Given the description of an element on the screen output the (x, y) to click on. 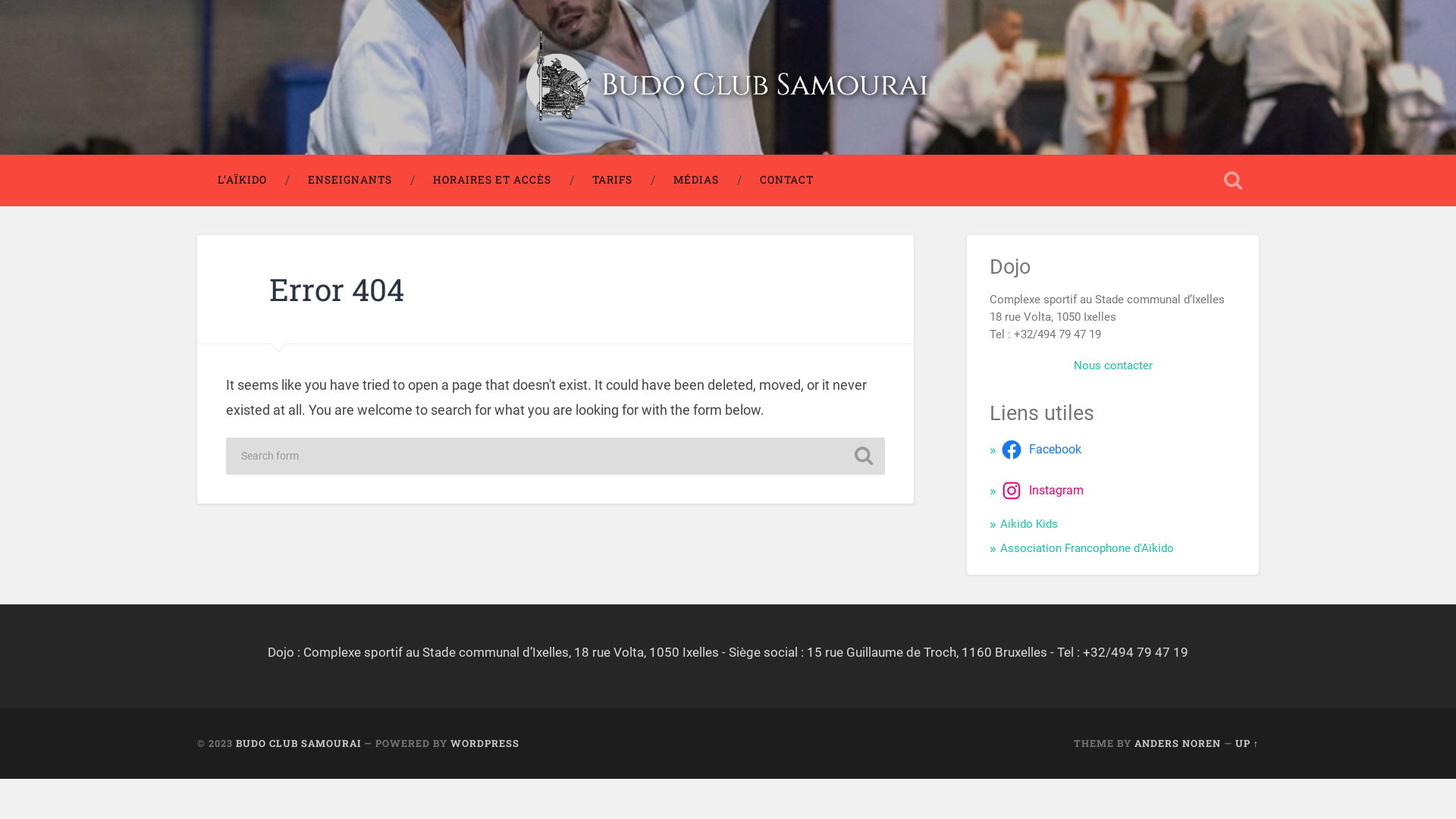
WORDPRESS Element type: text (484, 743)
TARIFS Element type: text (611, 180)
Search Element type: text (863, 455)
CONTACT Element type: text (786, 180)
Aikido Kids Element type: text (1028, 523)
ANDERS NOREN Element type: text (1177, 743)
ENSEIGNANTS Element type: text (349, 180)
Nous contacter Element type: text (1112, 365)
Facebook Element type: text (1043, 449)
BUDO CLUB SAMOURAI Element type: text (297, 743)
Instagram Element type: text (1044, 490)
